Given the description of an element on the screen output the (x, y) to click on. 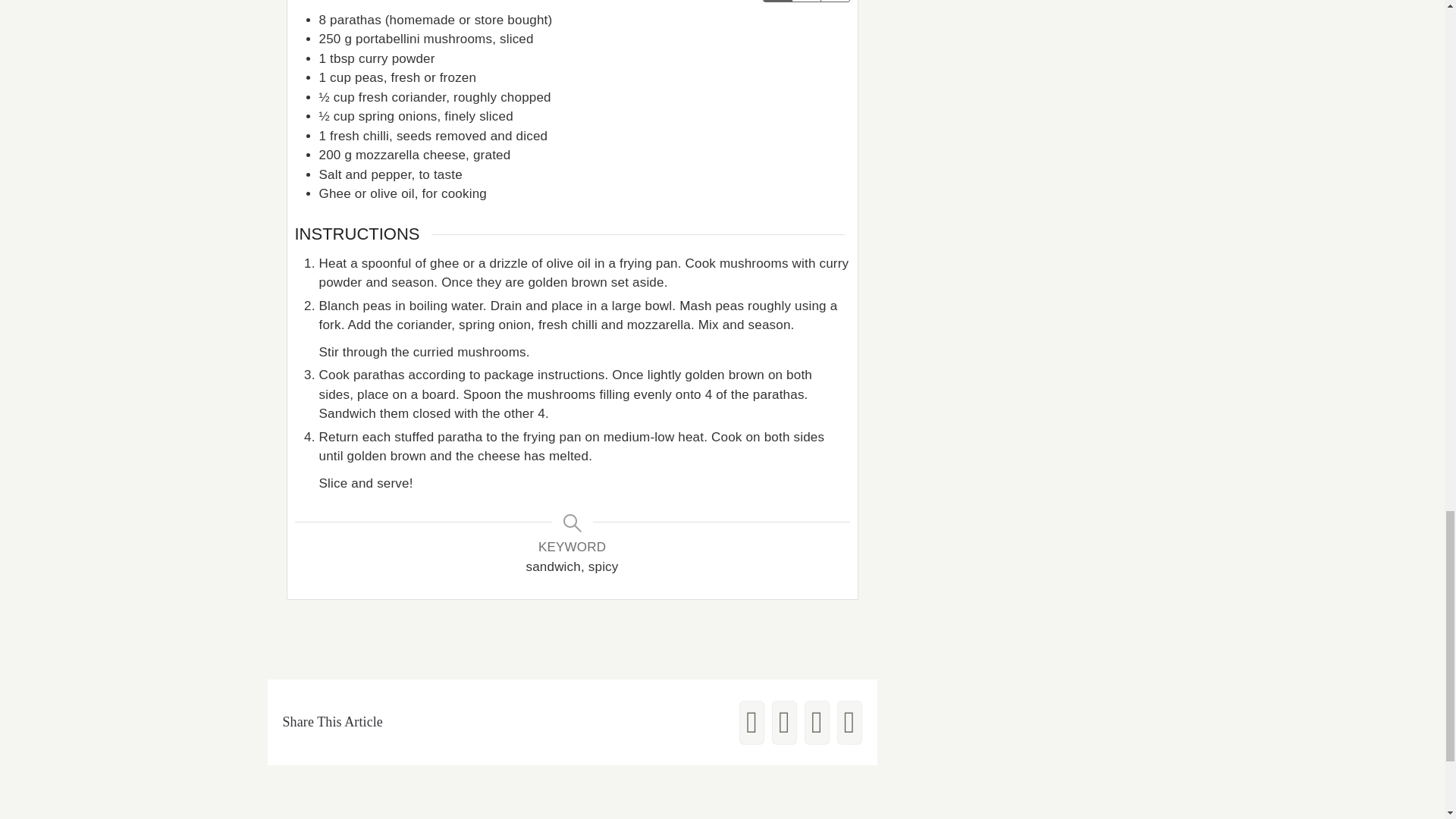
1x (777, 0)
2x (806, 0)
3x (834, 0)
